Given the description of an element on the screen output the (x, y) to click on. 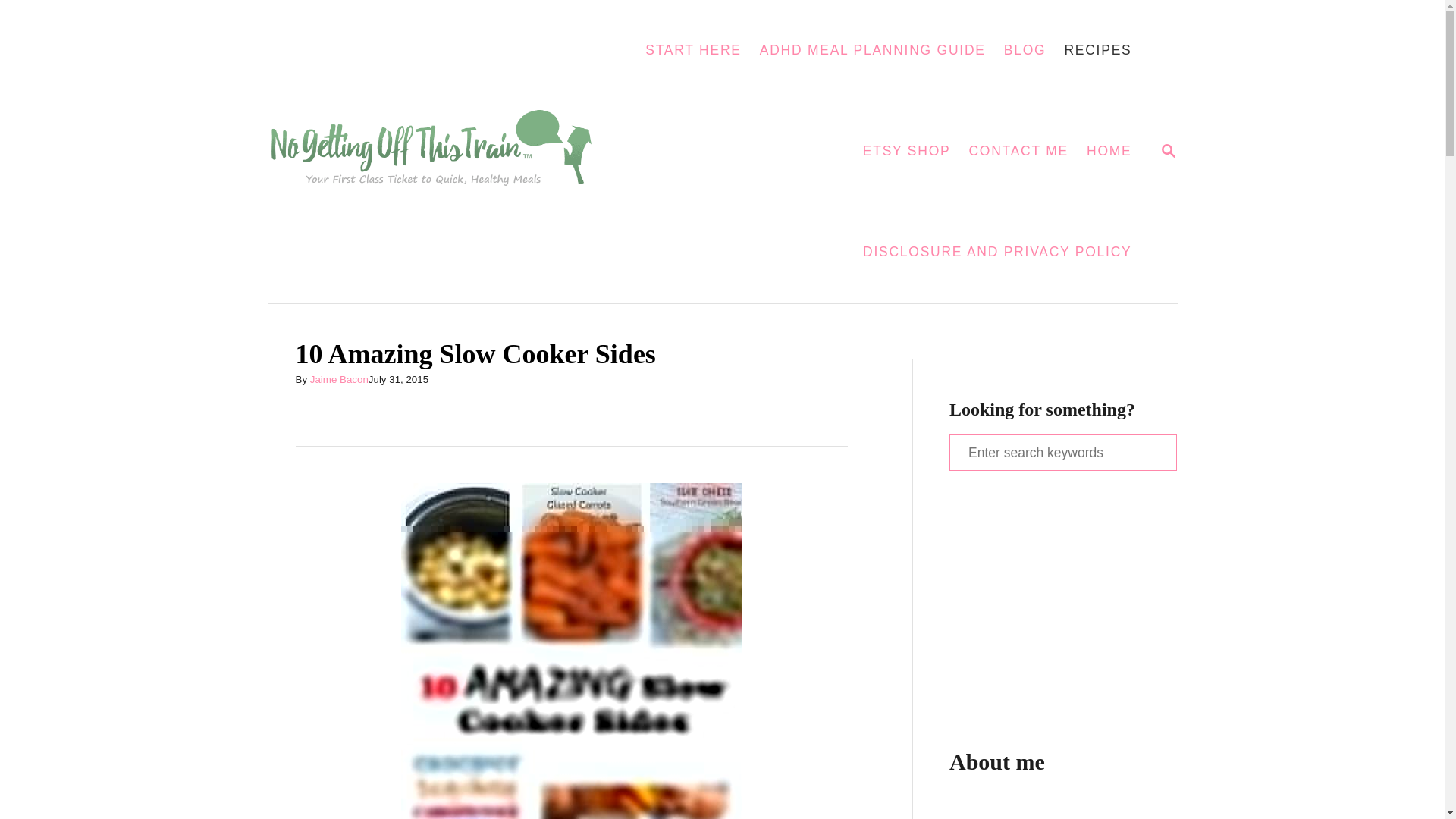
ETSY SHOP (906, 151)
BLOG (1024, 50)
Search (22, 22)
MAGNIFYING GLASS (1167, 149)
Search for: (1062, 452)
ADHD MEAL PLANNING GUIDE (872, 50)
No Getting Off This Train (439, 151)
RECIPES (1167, 150)
HOME (1097, 50)
Jaime Bacon (1109, 151)
DISCLOSURE AND PRIVACY POLICY (339, 378)
START HERE (997, 252)
CONTACT ME (692, 50)
